Given the description of an element on the screen output the (x, y) to click on. 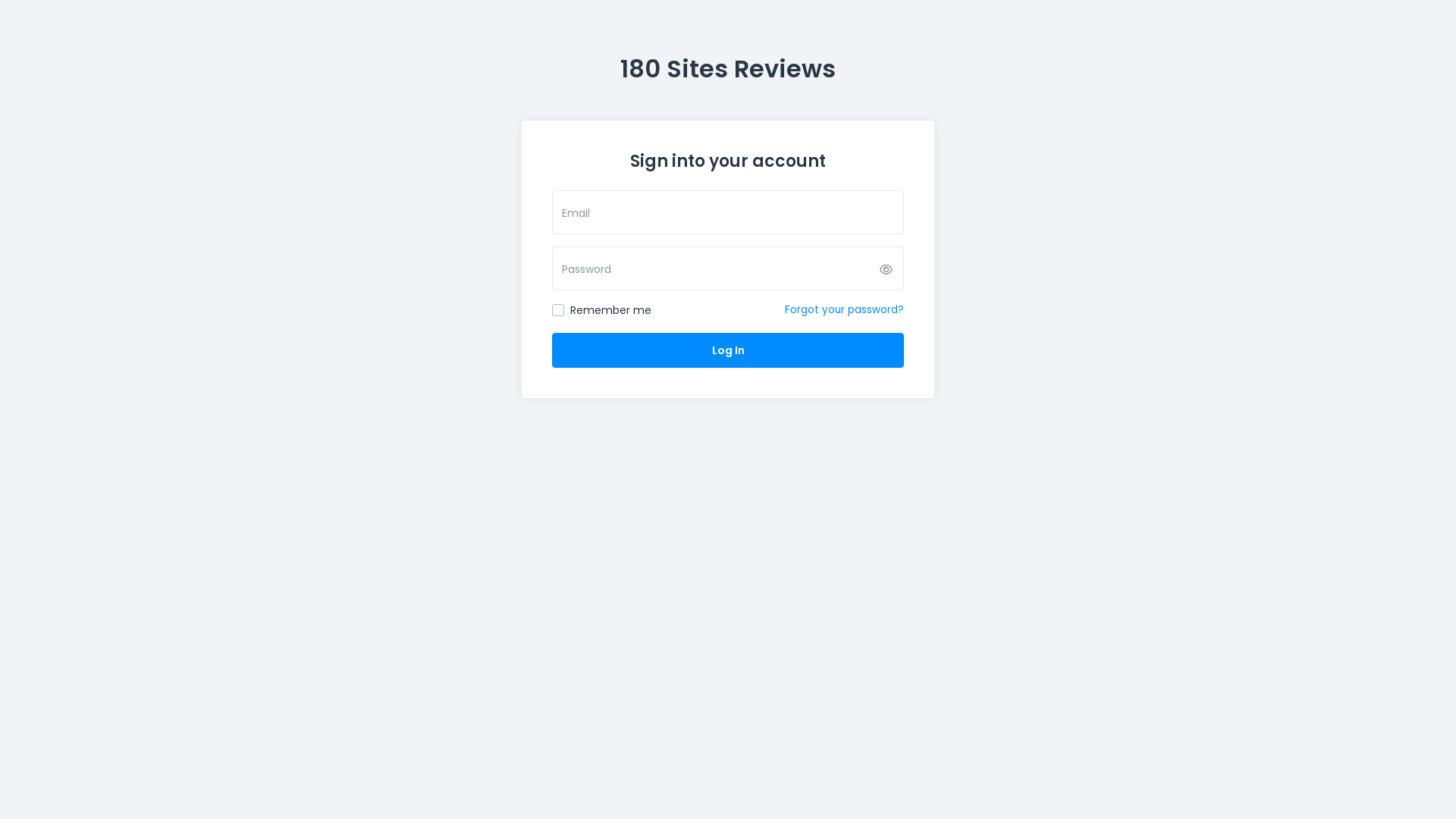
Forgot your password? Element type: text (843, 309)
Log In Element type: text (727, 349)
